Given the description of an element on the screen output the (x, y) to click on. 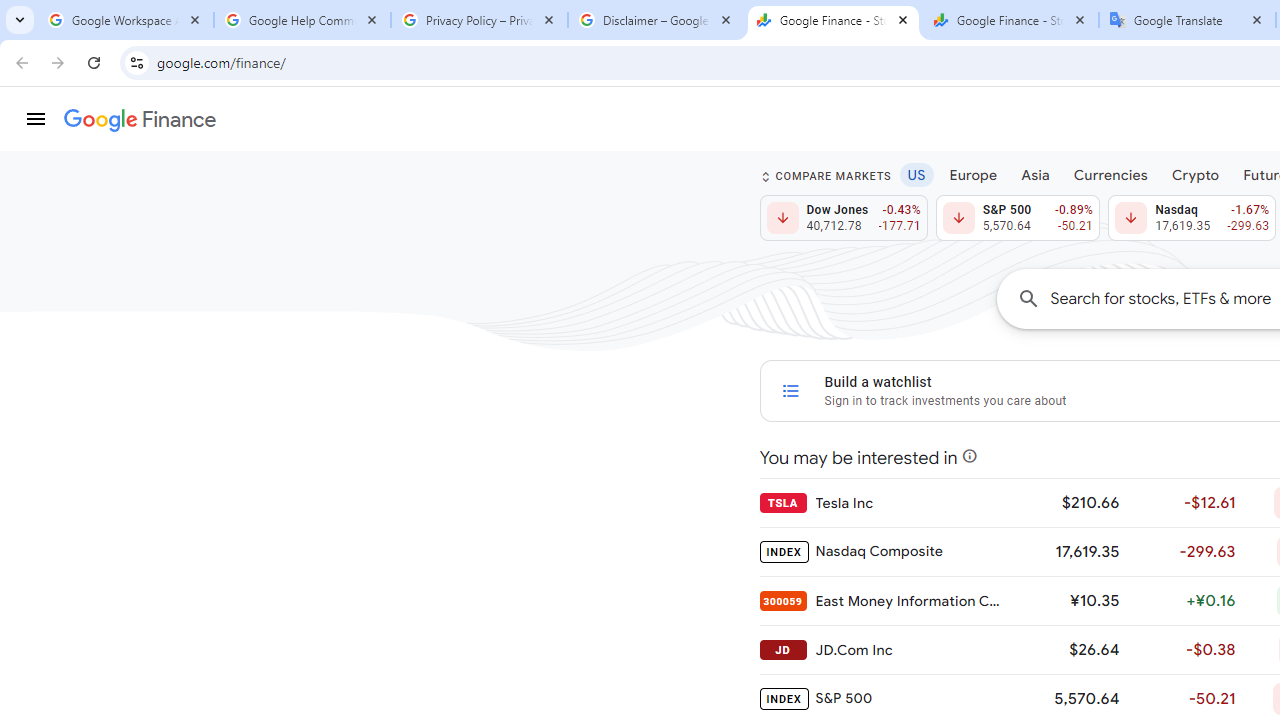
Finance (140, 120)
Dow Jones 40,712.78 Down by 0.43% -177.71 (843, 218)
COMPARE MARKETS (825, 176)
Crypto (1195, 174)
Currencies (1109, 174)
Europe (973, 174)
Asia (1035, 174)
